Given the description of an element on the screen output the (x, y) to click on. 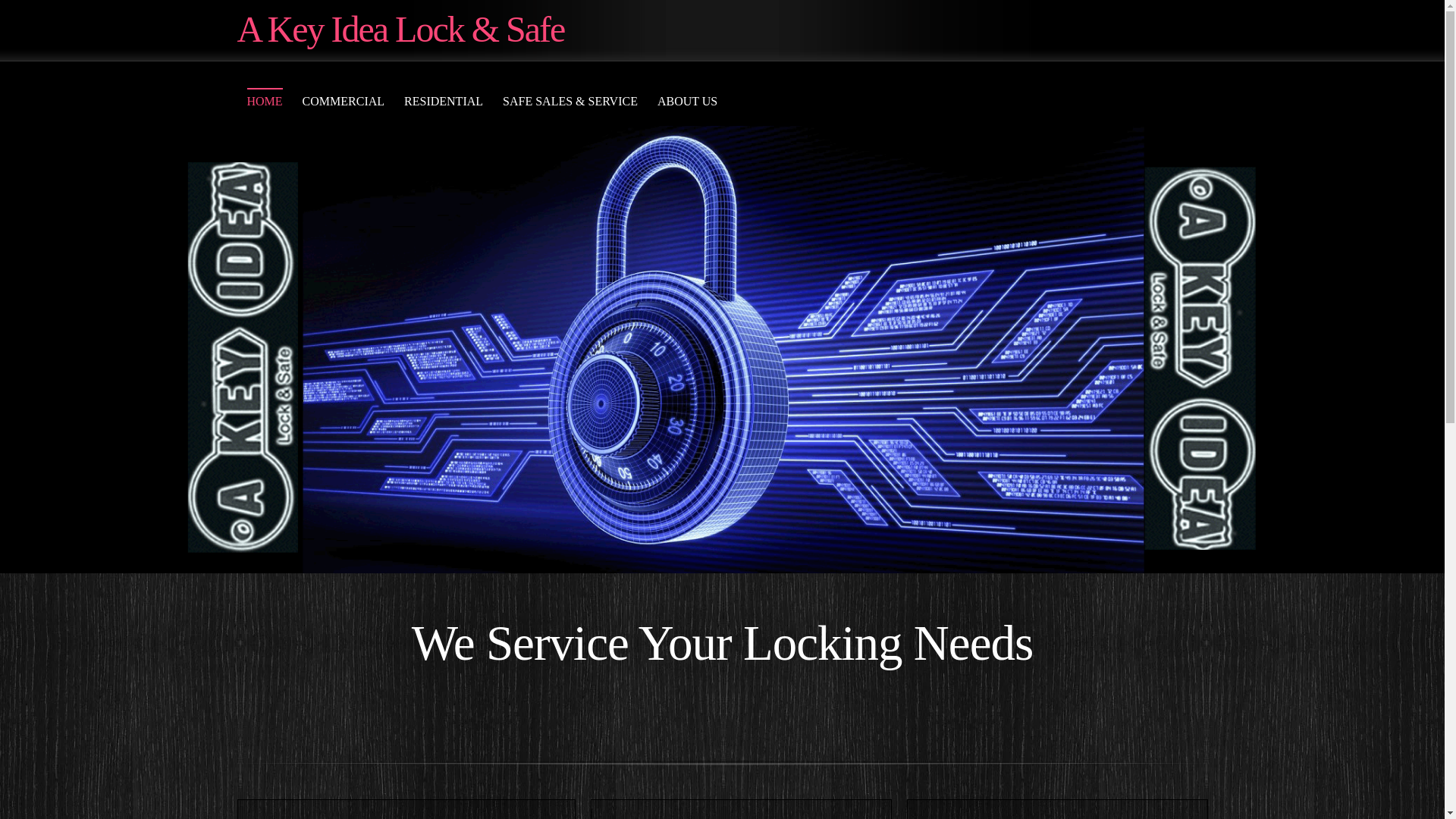
COMMERCIAL Element type: text (343, 100)
ABOUT US Element type: text (687, 100)
HOME Element type: text (263, 100)
SAFE SALES & SERVICE Element type: text (569, 100)
RESIDENTIAL Element type: text (443, 100)
A Key Idea Lock & Safe Element type: text (400, 30)
